Given the description of an element on the screen output the (x, y) to click on. 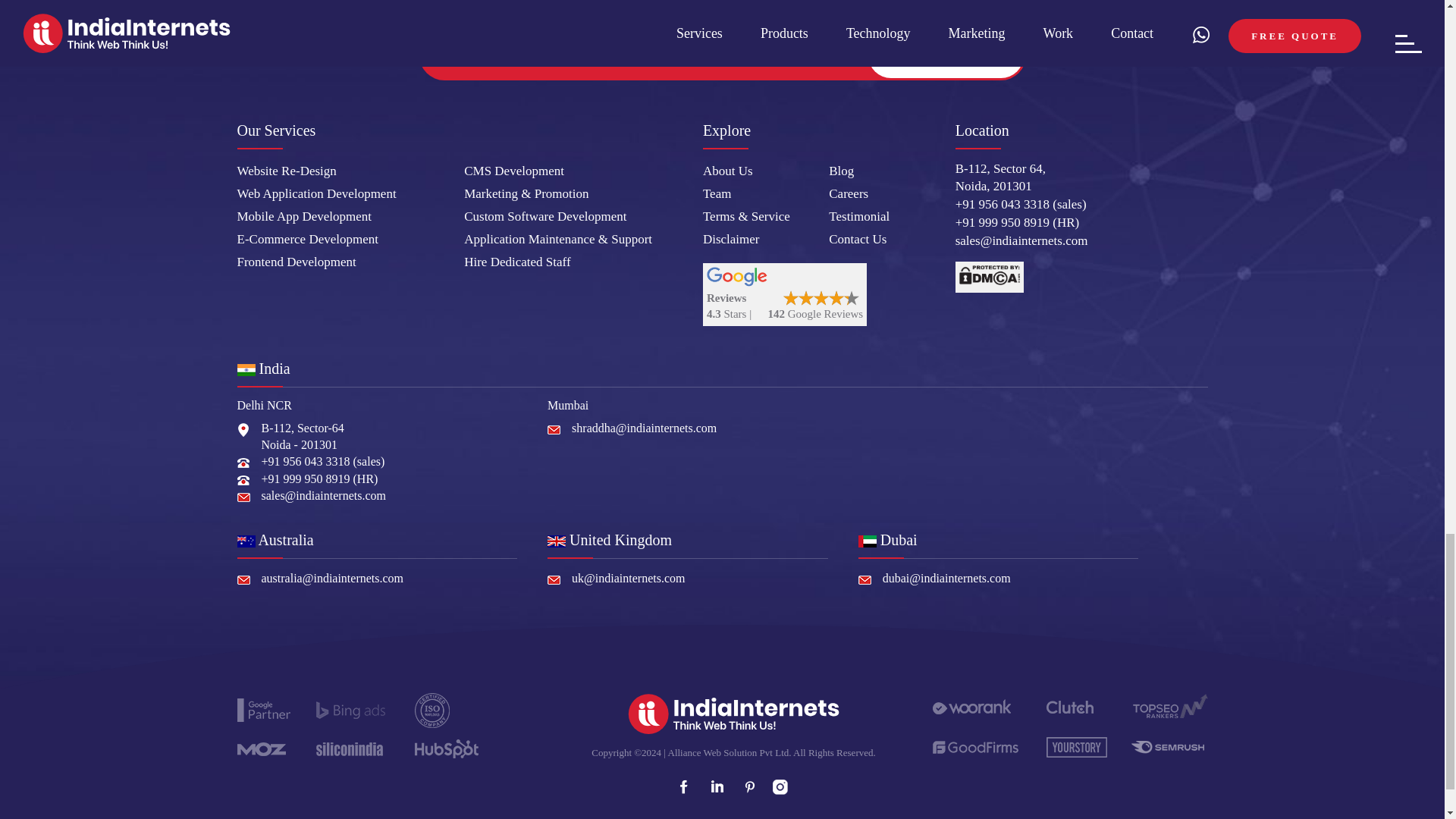
Visit our LinkedIn page (715, 787)
Visit our Pinterest page (747, 787)
DMCA.com Protection Status (989, 276)
Visit our Facebook page (682, 787)
